Given the description of an element on the screen output the (x, y) to click on. 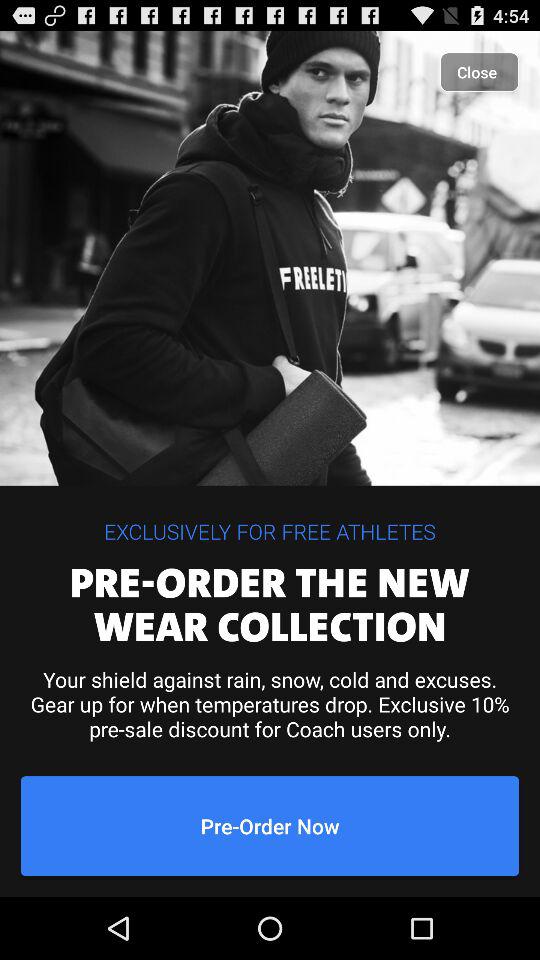
tap icon below the pre order the (270, 704)
